Given the description of an element on the screen output the (x, y) to click on. 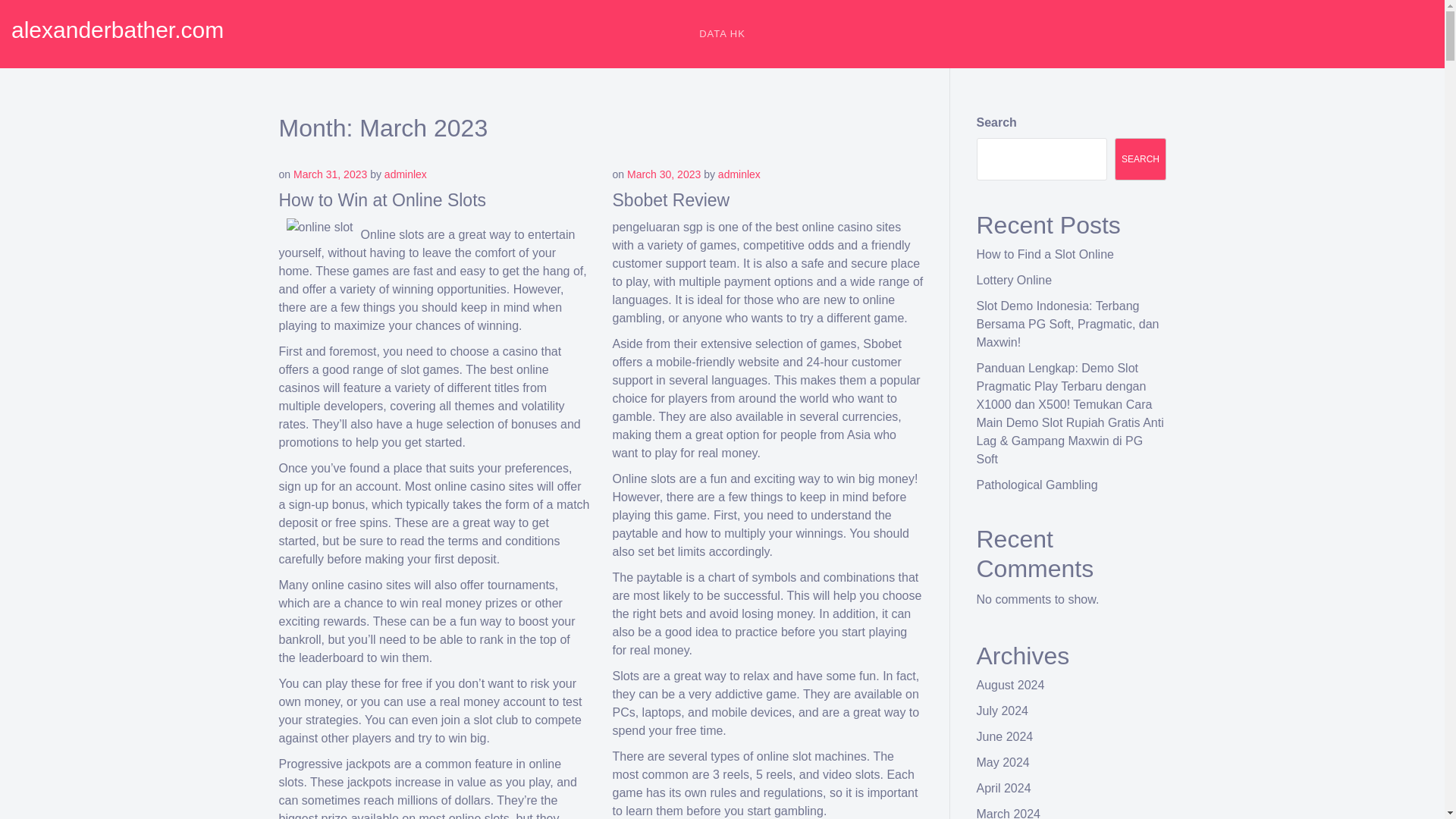
DATA HK (722, 33)
alexanderbather.com (117, 29)
March 30, 2023 (663, 174)
How to Win at Online Slots (382, 199)
Sbobet Review (671, 199)
March 31, 2023 (330, 174)
adminlex (738, 174)
pengeluaran sgp (657, 226)
adminlex (405, 174)
